Given the description of an element on the screen output the (x, y) to click on. 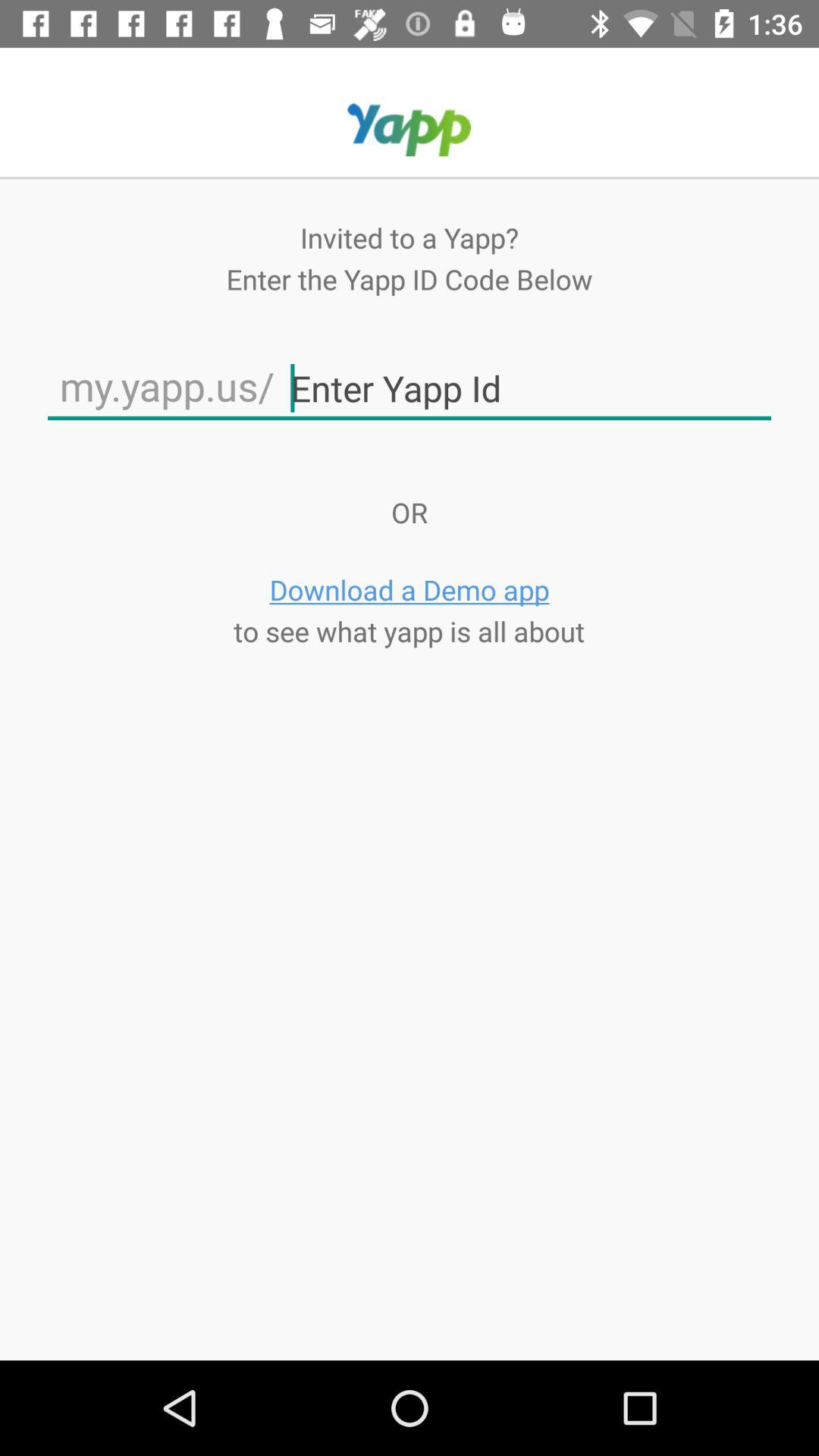
choose app below or icon (409, 589)
